Given the description of an element on the screen output the (x, y) to click on. 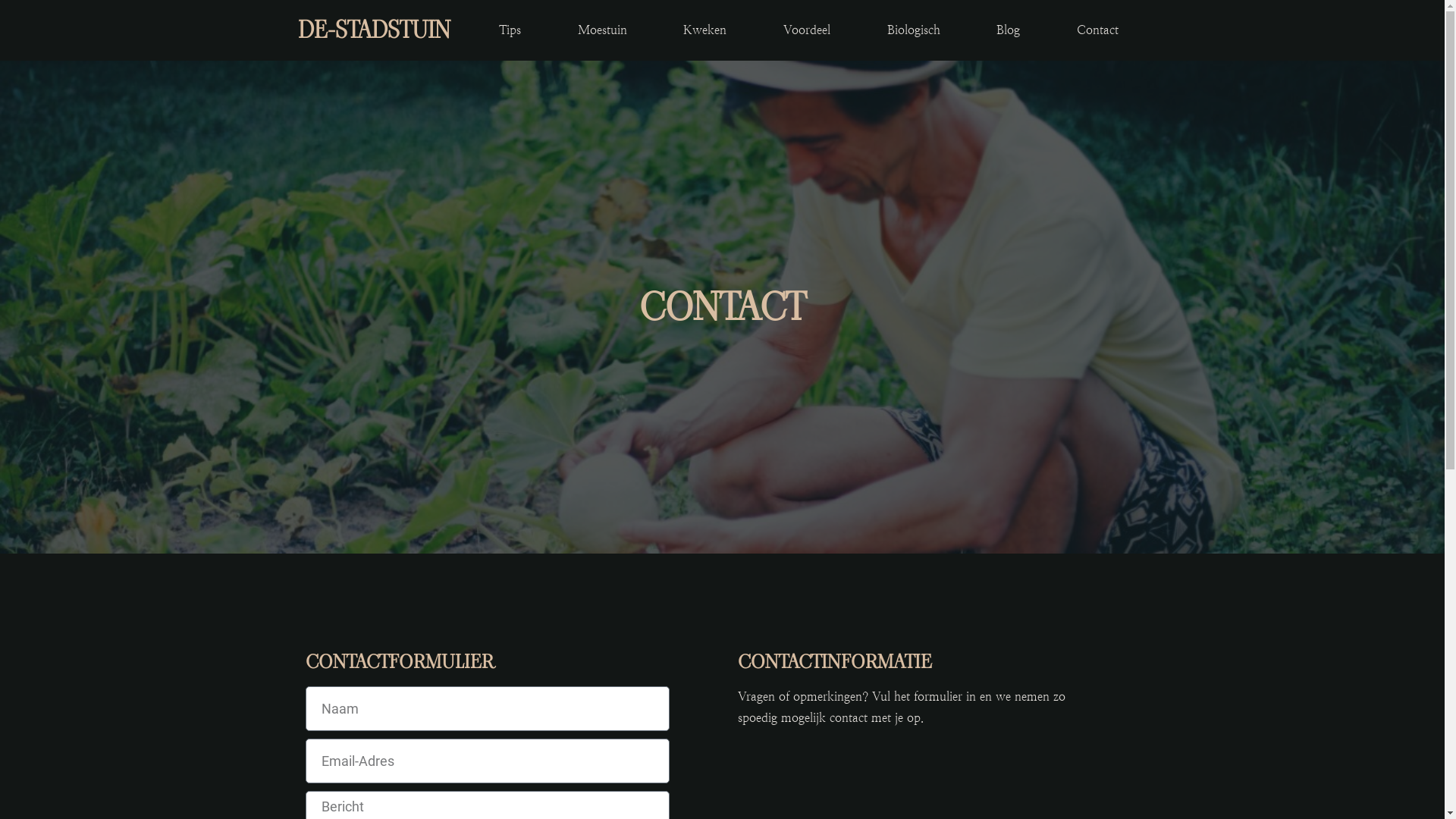
Kweken Element type: text (705, 29)
Blog Element type: text (1008, 29)
Moestuin Element type: text (602, 29)
Contact Element type: text (1097, 29)
Biologisch Element type: text (913, 29)
Voordeel Element type: text (807, 29)
DE-STADSTUIN Element type: text (373, 29)
Tips Element type: text (509, 29)
